Given the description of an element on the screen output the (x, y) to click on. 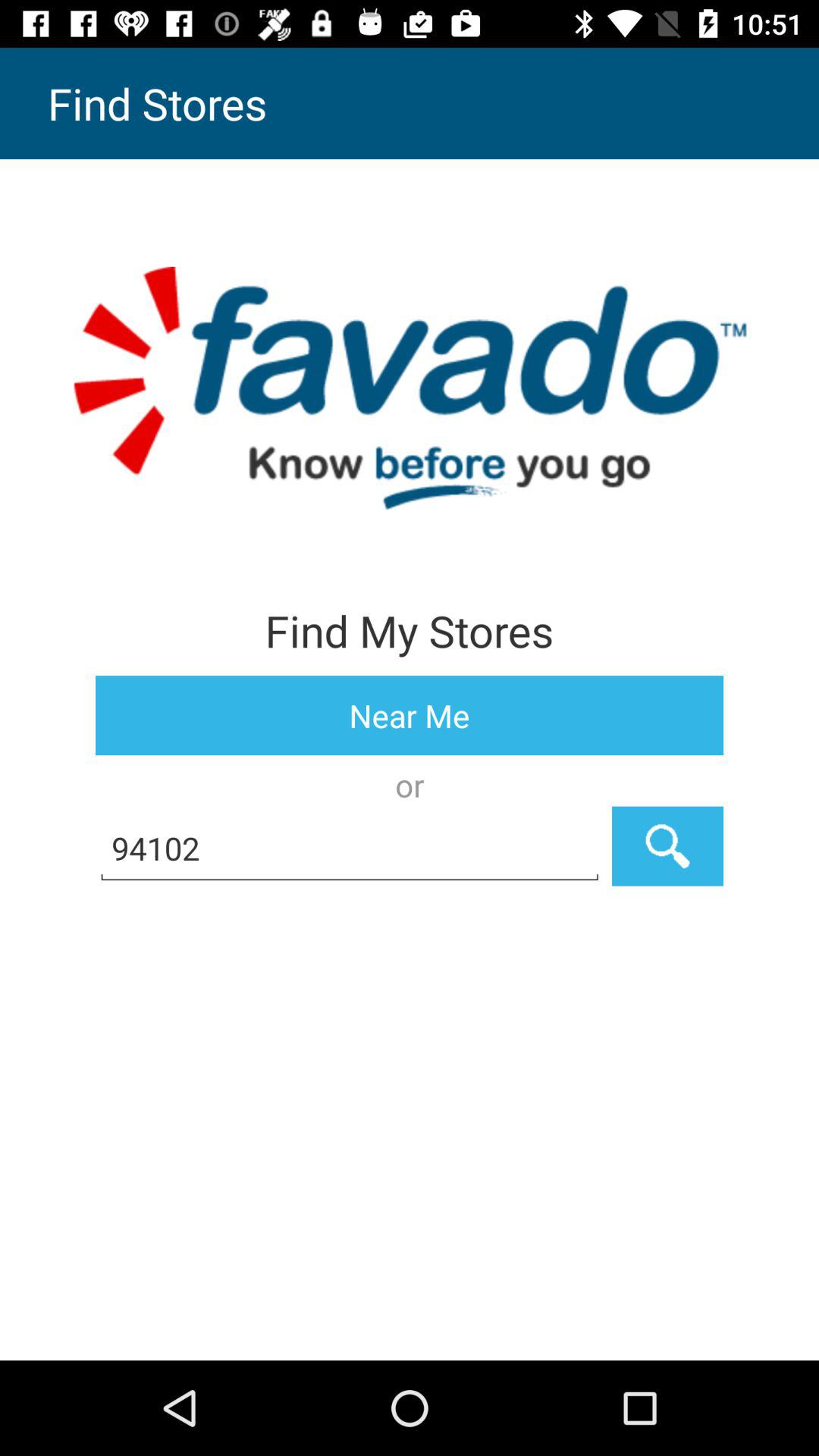
jump until the 94102 item (349, 846)
